Given the description of an element on the screen output the (x, y) to click on. 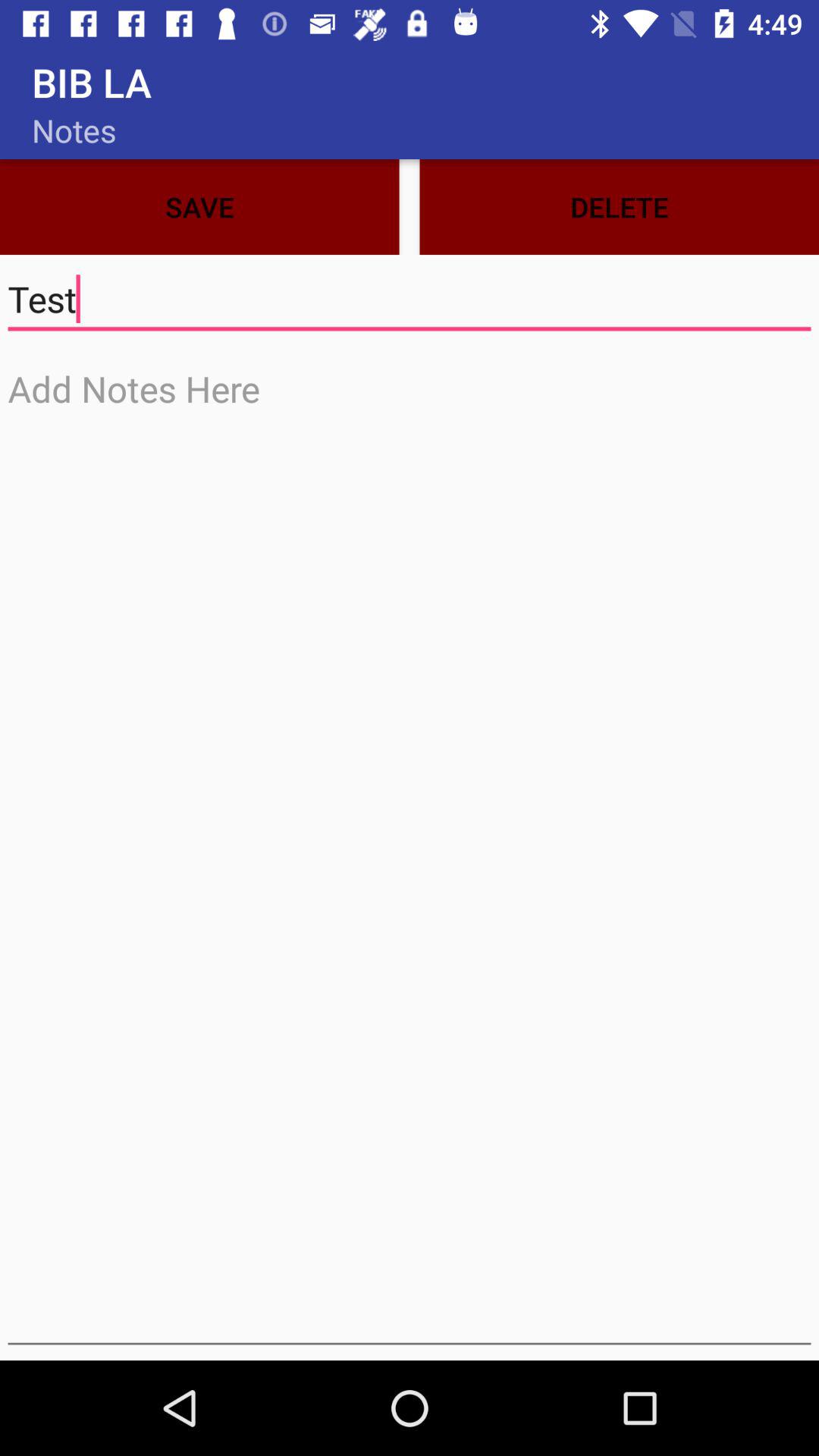
select the save icon (199, 206)
